Given the description of an element on the screen output the (x, y) to click on. 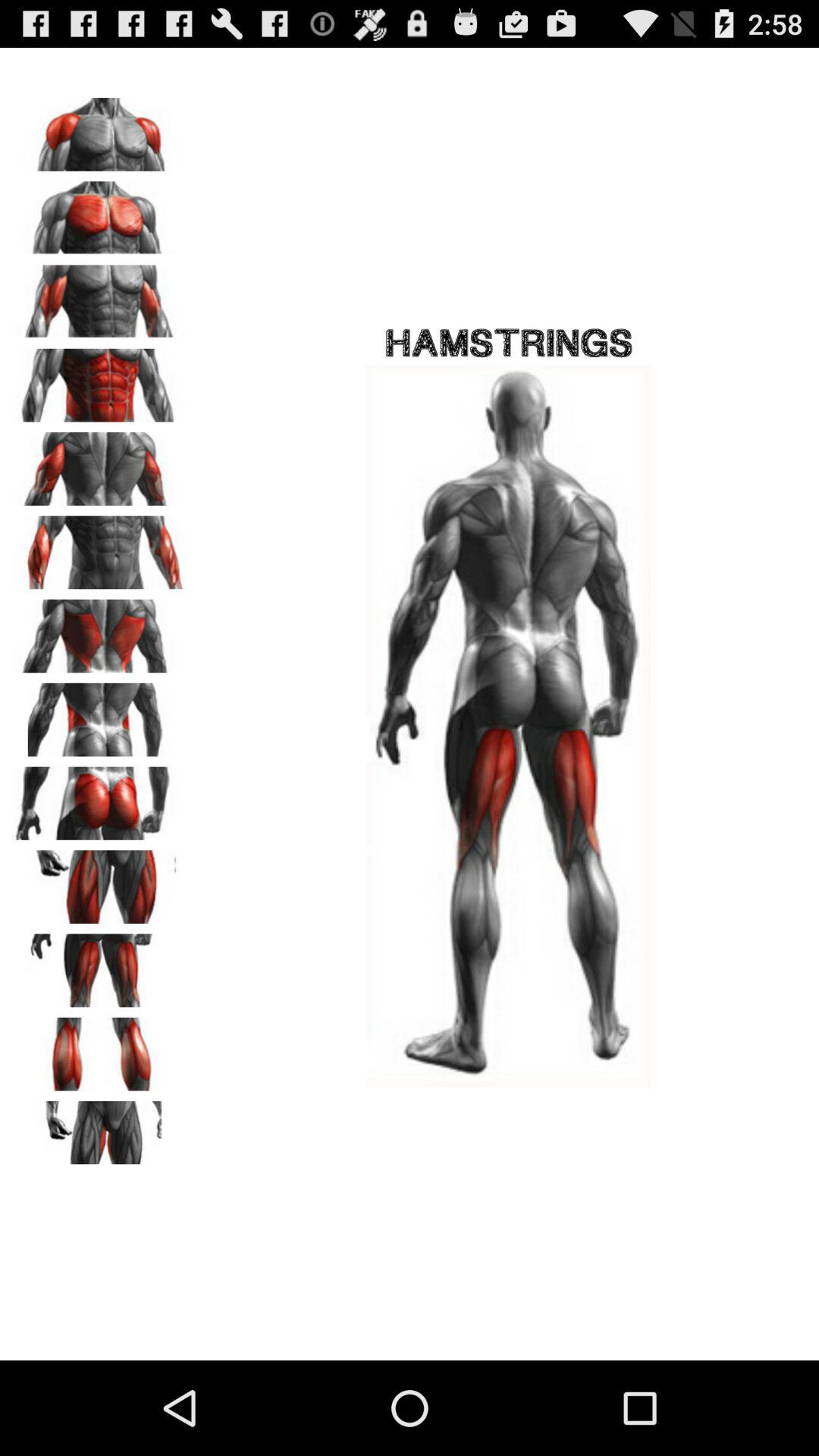
upper leg workout (99, 881)
